Given the description of an element on the screen output the (x, y) to click on. 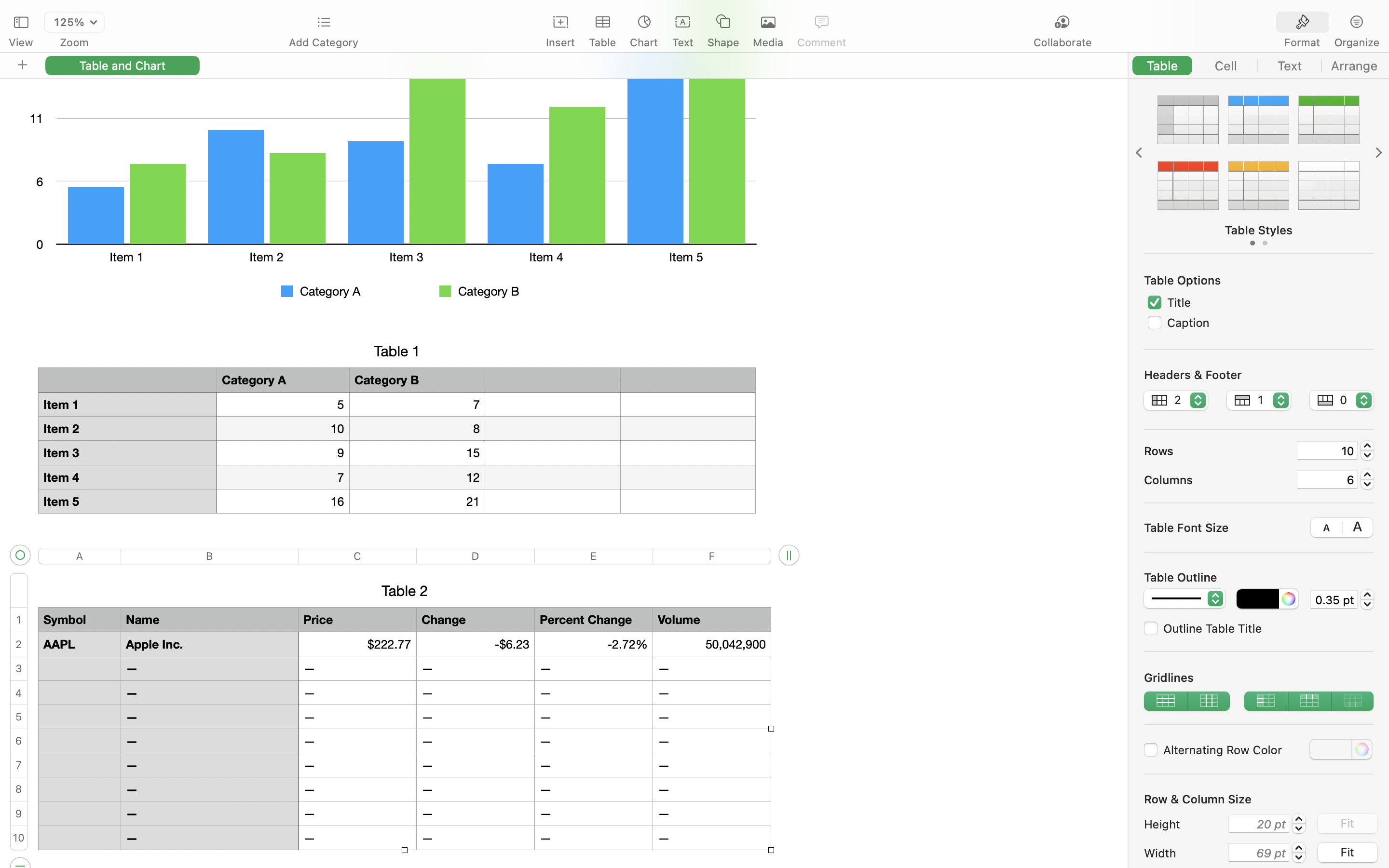
6 Element type: AXTextField (1327, 478)
